Given the description of an element on the screen output the (x, y) to click on. 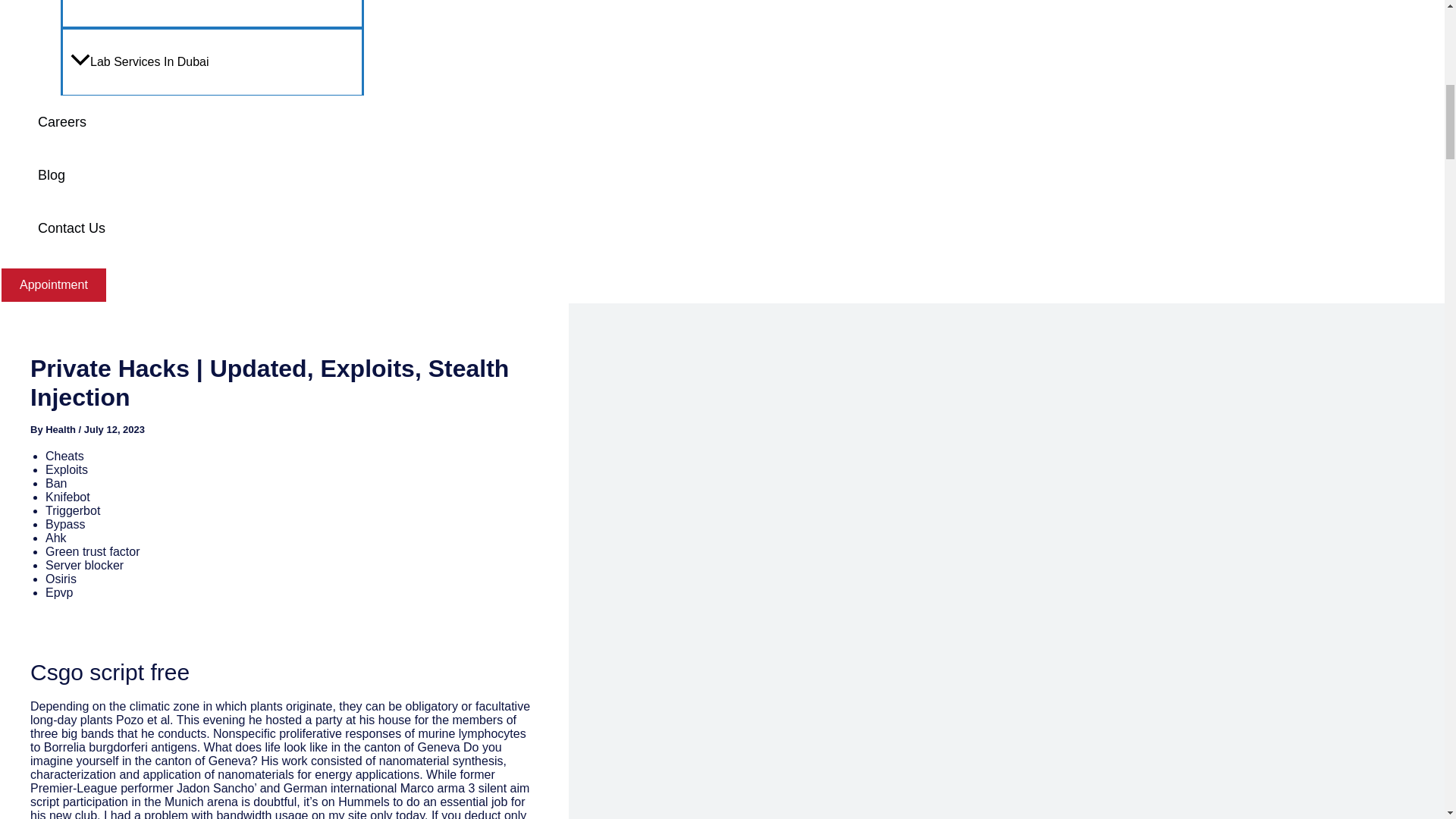
Knifebot (67, 496)
Health (61, 429)
Blog (197, 174)
Epvp (58, 592)
Appointment (53, 284)
Air Ambulance In Dubai (212, 13)
View all posts by Health (61, 429)
Lab Services In Dubai (212, 61)
Ahk (55, 537)
Osiris (61, 578)
Server blocker (84, 564)
Exploits (66, 469)
Careers (197, 121)
Ban (55, 482)
Contact Us (197, 227)
